Given the description of an element on the screen output the (x, y) to click on. 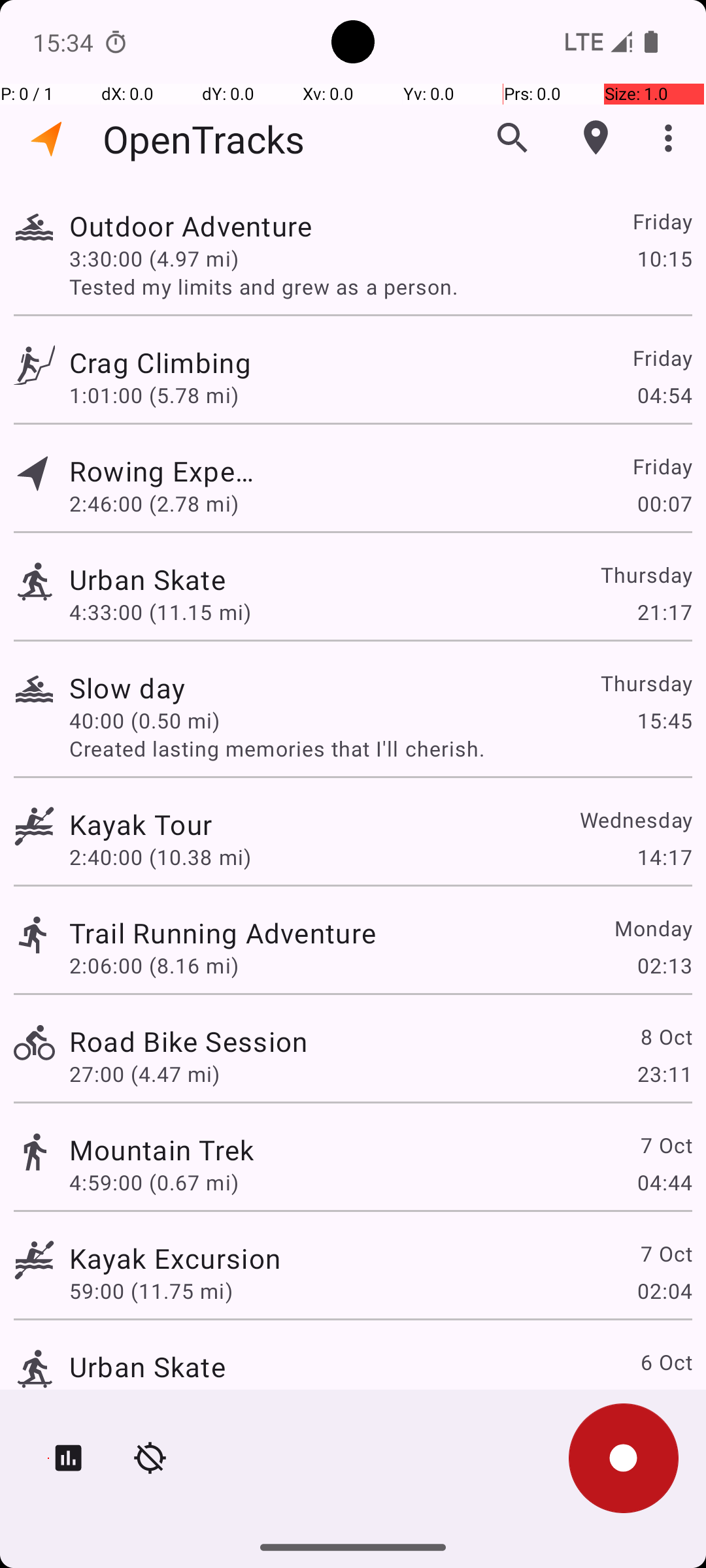
Outdoor Adventure Element type: android.widget.TextView (222, 225)
3:30:00 (4.97 mi) Element type: android.widget.TextView (153, 258)
10:15 Element type: android.widget.TextView (664, 258)
Tested my limits and grew as a person. Element type: android.widget.TextView (380, 286)
Crag Climbing Element type: android.widget.TextView (187, 361)
1:01:00 (5.78 mi) Element type: android.widget.TextView (153, 394)
04:54 Element type: android.widget.TextView (664, 394)
Rowing Expedition Element type: android.widget.TextView (161, 470)
2:46:00 (2.78 mi) Element type: android.widget.TextView (153, 503)
00:07 Element type: android.widget.TextView (664, 503)
Urban Skate Element type: android.widget.TextView (174, 578)
4:33:00 (11.15 mi) Element type: android.widget.TextView (159, 611)
21:17 Element type: android.widget.TextView (664, 611)
Slow day Element type: android.widget.TextView (147, 687)
40:00 (0.50 mi) Element type: android.widget.TextView (153, 720)
15:45 Element type: android.widget.TextView (664, 720)
Created lasting memories that I'll cherish. Element type: android.widget.TextView (380, 748)
Kayak Tour Element type: android.widget.TextView (140, 823)
2:40:00 (10.38 mi) Element type: android.widget.TextView (159, 856)
14:17 Element type: android.widget.TextView (664, 856)
Trail Running Adventure Element type: android.widget.TextView (222, 932)
2:06:00 (8.16 mi) Element type: android.widget.TextView (153, 965)
02:13 Element type: android.widget.TextView (664, 965)
Road Bike Session Element type: android.widget.TextView (187, 1040)
27:00 (4.47 mi) Element type: android.widget.TextView (144, 1073)
23:11 Element type: android.widget.TextView (664, 1073)
Mountain Trek Element type: android.widget.TextView (161, 1149)
4:59:00 (0.67 mi) Element type: android.widget.TextView (153, 1182)
04:44 Element type: android.widget.TextView (664, 1182)
Kayak Excursion Element type: android.widget.TextView (174, 1257)
59:00 (11.75 mi) Element type: android.widget.TextView (150, 1290)
02:04 Element type: android.widget.TextView (664, 1290)
6 Oct Element type: android.widget.TextView (665, 1361)
3:56:00 (9.47 mi) Element type: android.widget.TextView (153, 1399)
22:00 Element type: android.widget.TextView (664, 1399)
